Given the description of an element on the screen output the (x, y) to click on. 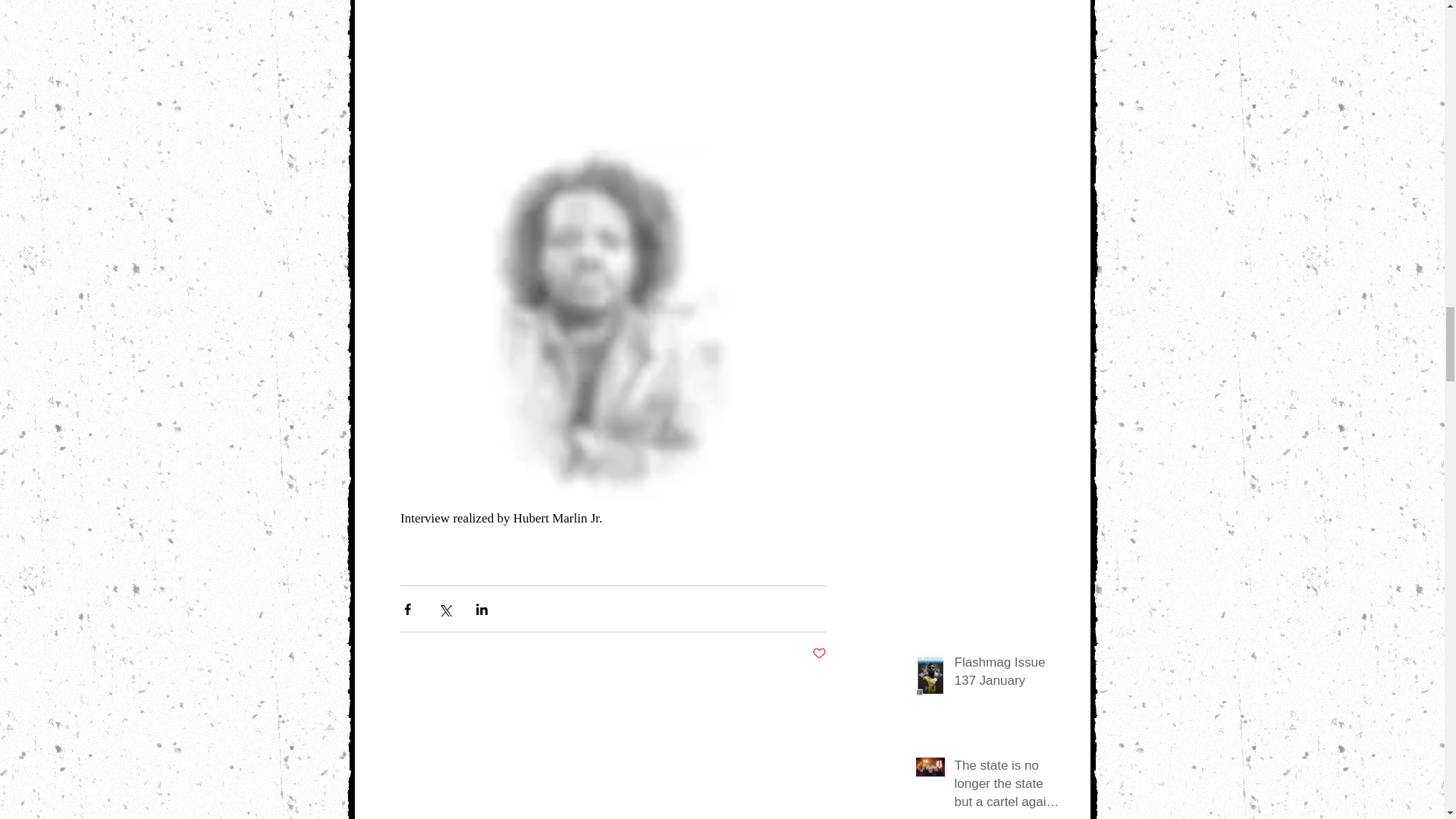
Post not marked as liked (817, 653)
Flashmag Issue 137 January (1007, 674)
